Given the description of an element on the screen output the (x, y) to click on. 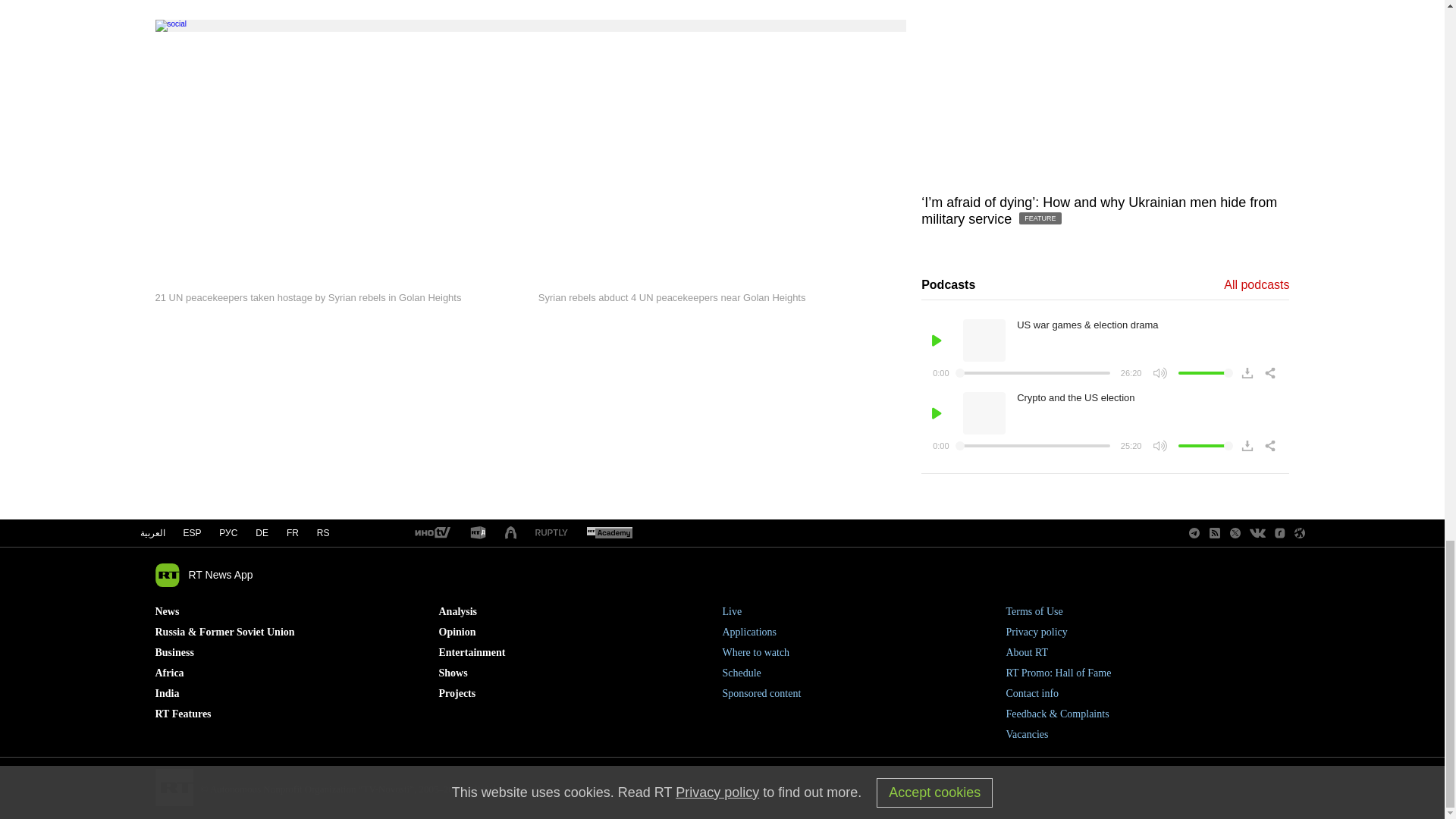
RT  (608, 533)
RT  (551, 533)
RT  (478, 533)
RT  (431, 533)
